Given the description of an element on the screen output the (x, y) to click on. 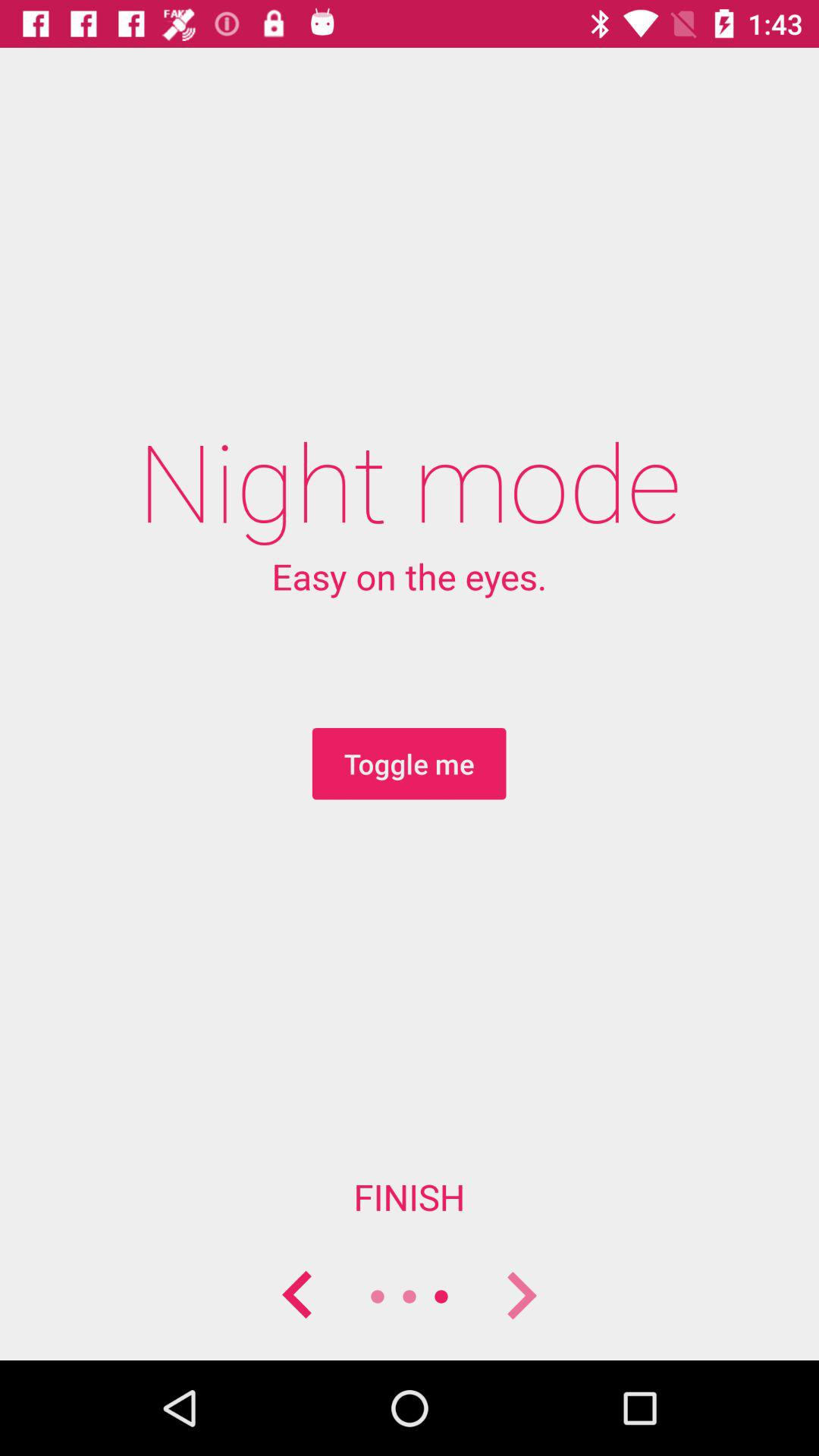
press the item below finish item (297, 1296)
